Given the description of an element on the screen output the (x, y) to click on. 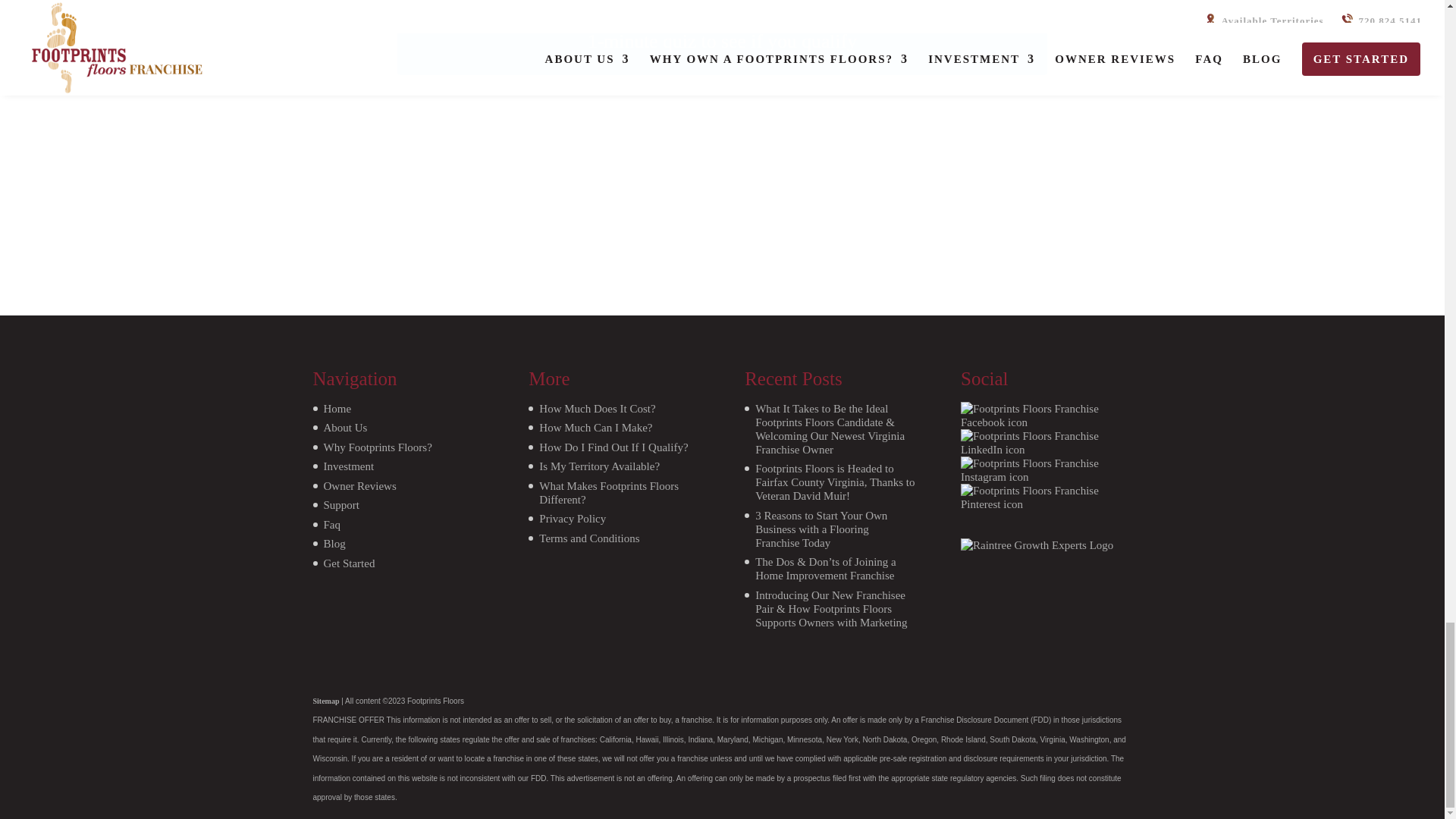
Owner Reviews (371, 486)
Faq (371, 524)
Privacy Policy (613, 518)
How Much Does It Cost? (613, 408)
Investment (371, 466)
Get Started (371, 563)
Terms and Conditions (613, 538)
About Us (371, 427)
How Much Can I Make? (613, 427)
Support (371, 504)
Home (371, 408)
Blog (371, 543)
What Makes Footprints Floors Different? (613, 492)
Why Footprints Floors? (371, 447)
How Do I Find Out If I Qualify? (613, 447)
